Given the description of an element on the screen output the (x, y) to click on. 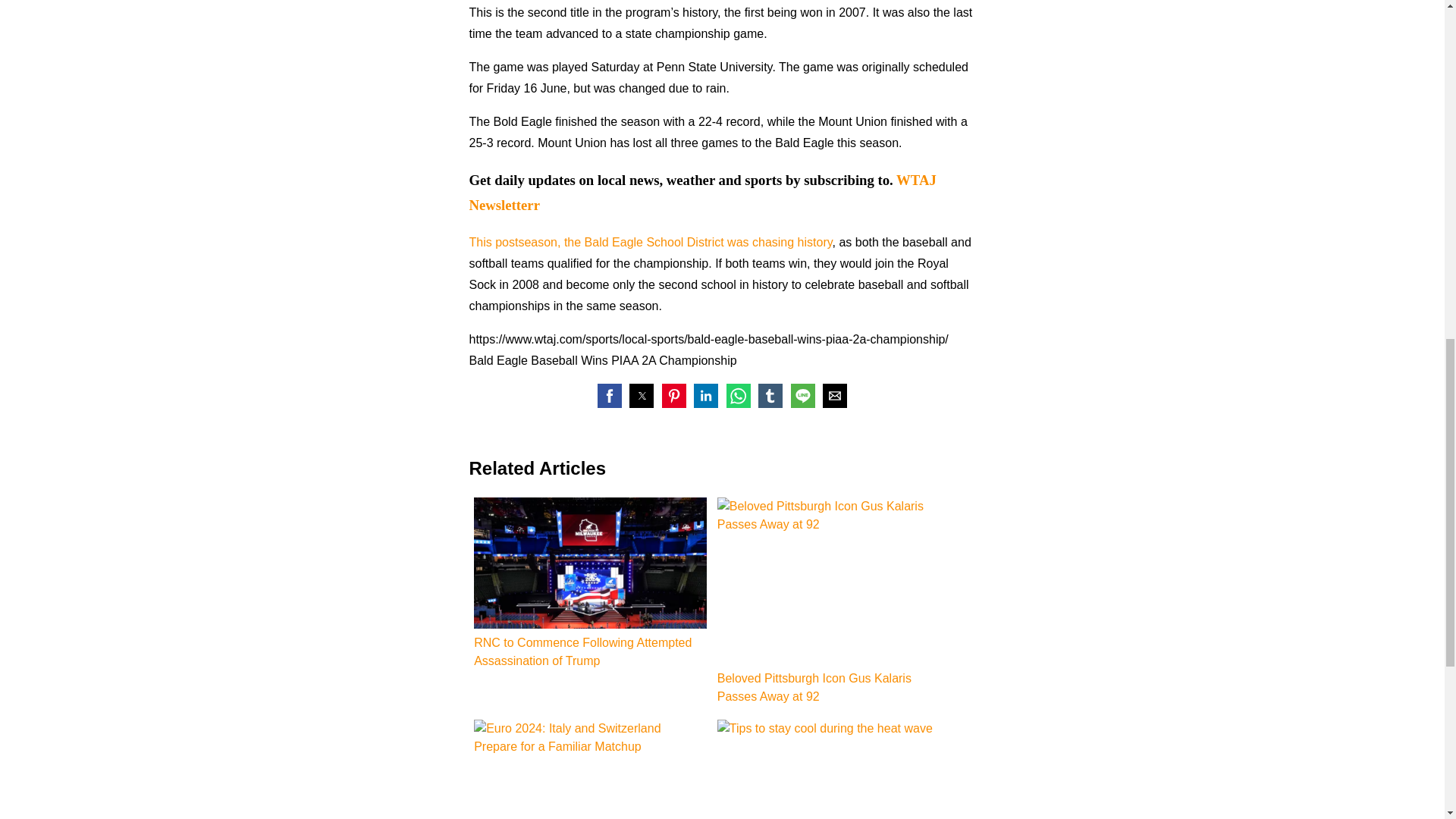
Beloved Pittsburgh Icon Gus Kalaris Passes Away at 92 (833, 601)
Tips to stay cool during the heat wave (833, 769)
RNC to Commence Following Attempted Assassination of Trump (590, 562)
Beloved Pittsburgh Icon Gus Kalaris Passes Away at 92 (829, 580)
WTAJ Newsletter (702, 191)
Tips to stay cool during the heat wave (833, 769)
RNC to Commence Following Attempted Assassination of Trump (590, 583)
